Given the description of an element on the screen output the (x, y) to click on. 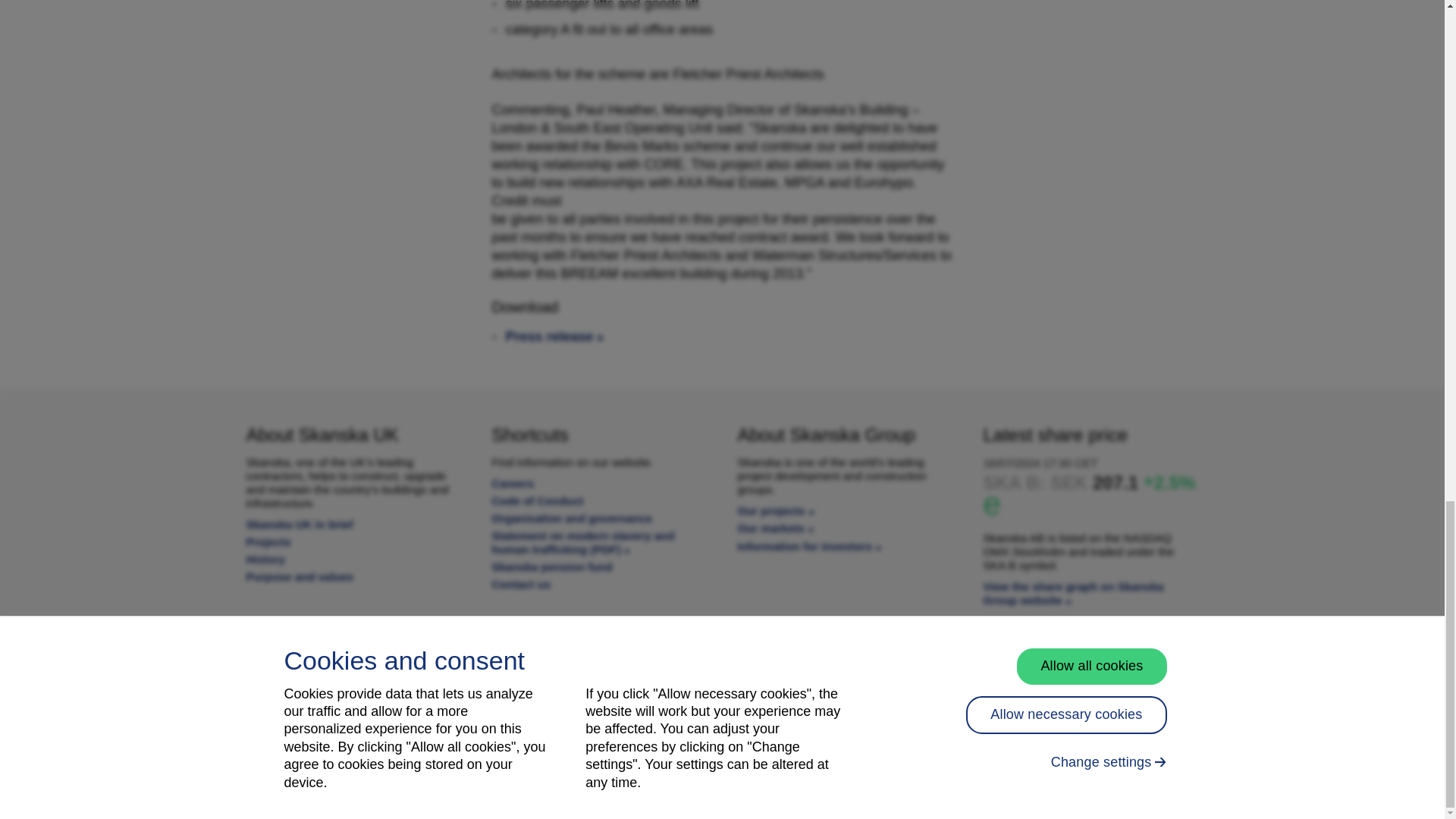
Change country (353, 662)
Latest share price (1072, 592)
